Given the description of an element on the screen output the (x, y) to click on. 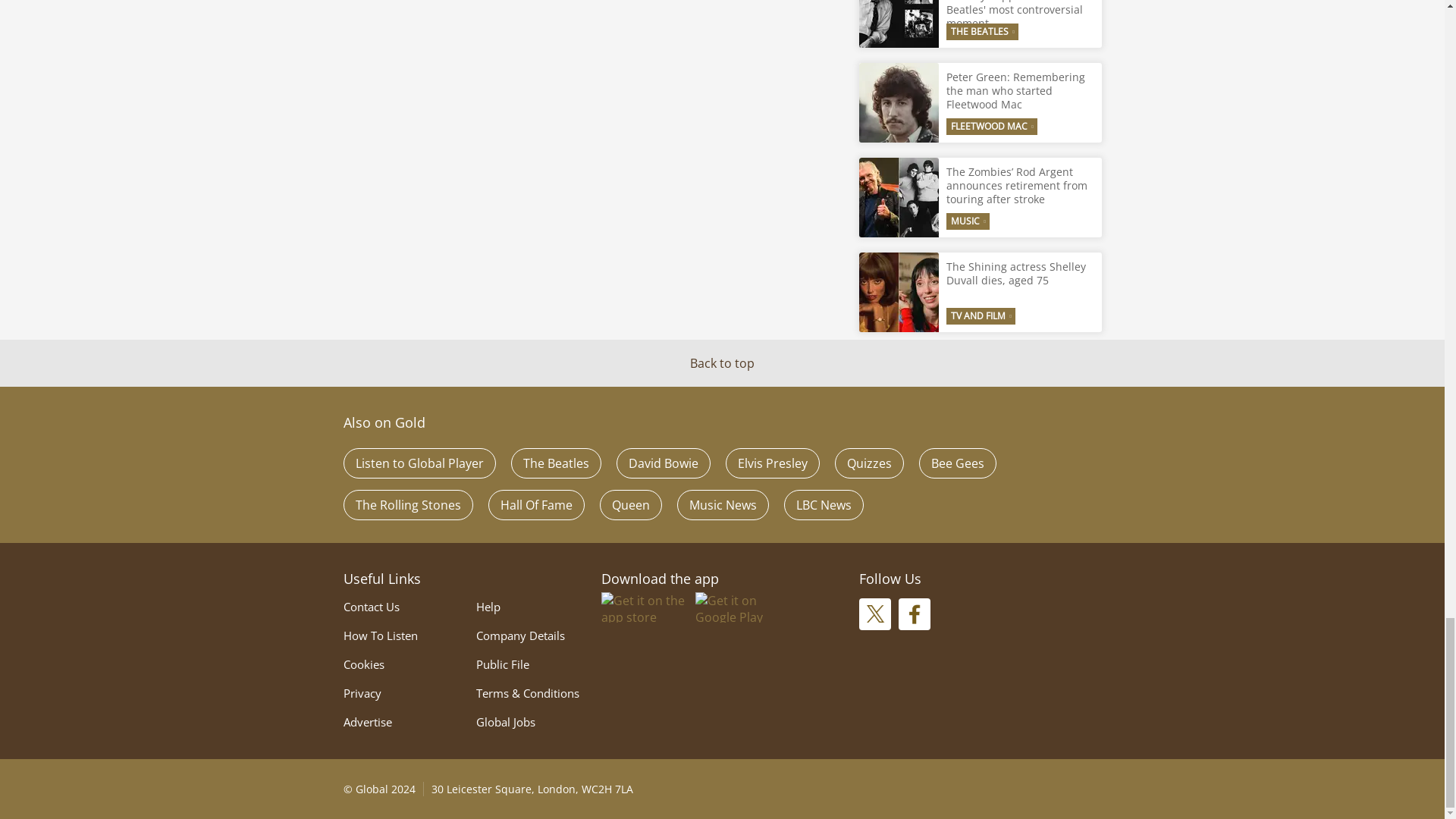
Follow Gold on Facebook (914, 613)
Follow Gold on X (874, 613)
Back to top (722, 362)
